Given the description of an element on the screen output the (x, y) to click on. 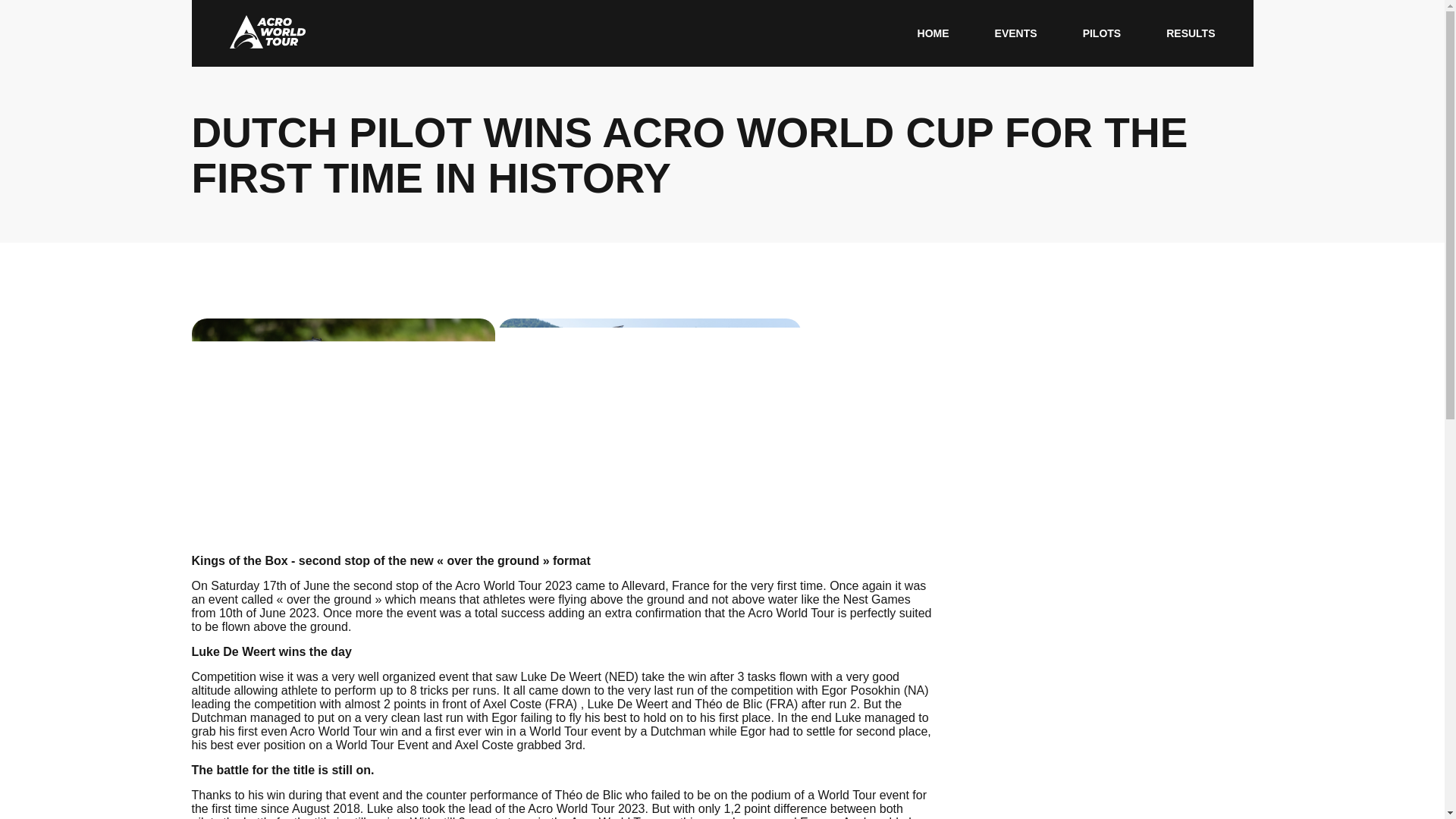
PILOTS (1102, 33)
HOME (933, 33)
RESULTS (1190, 33)
EVENTS (1015, 33)
